Given the description of an element on the screen output the (x, y) to click on. 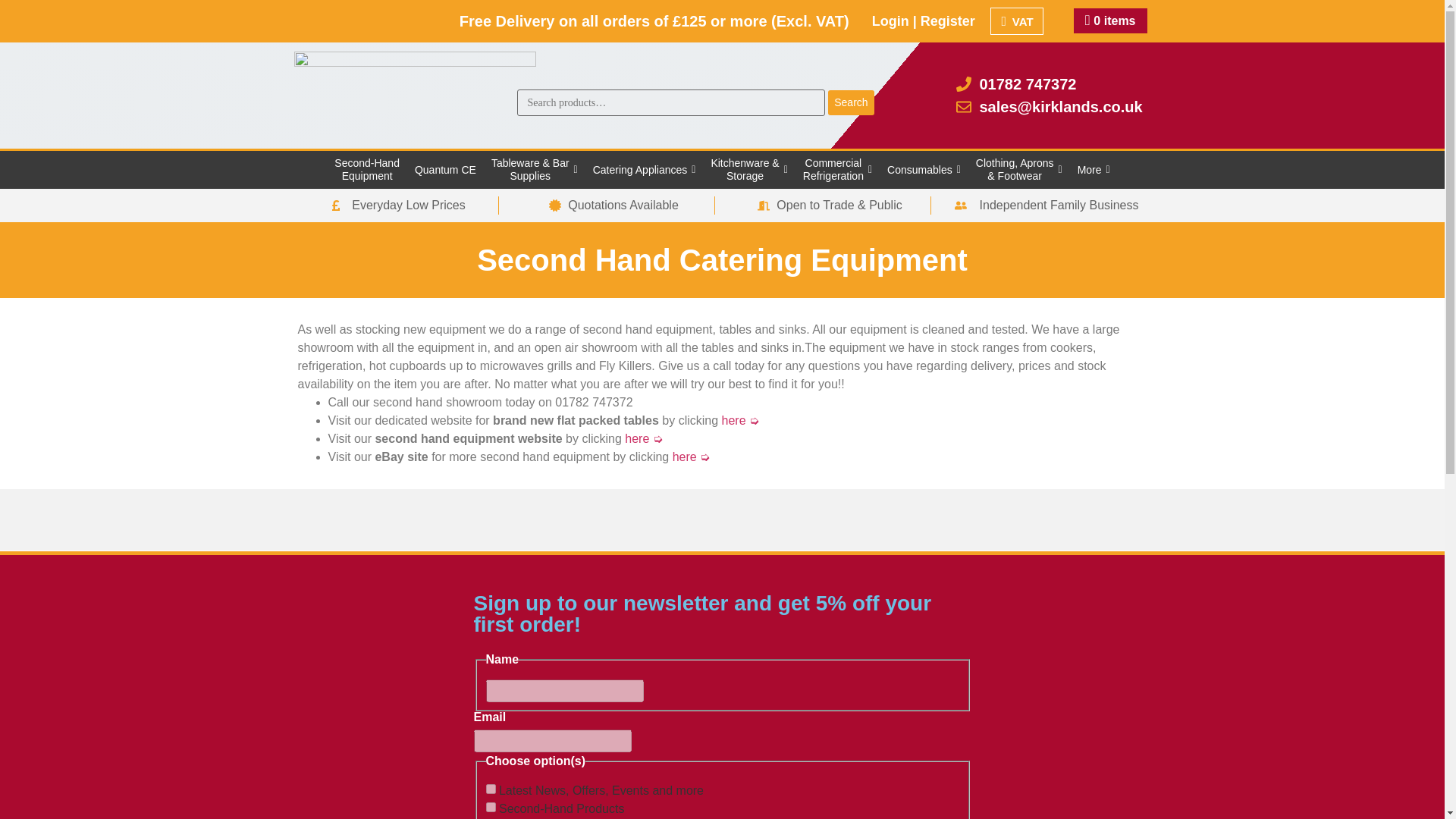
Start shopping (1110, 20)
Second-Hand Products (489, 807)
Latest News, Offers, Events and more (489, 788)
